Given the description of an element on the screen output the (x, y) to click on. 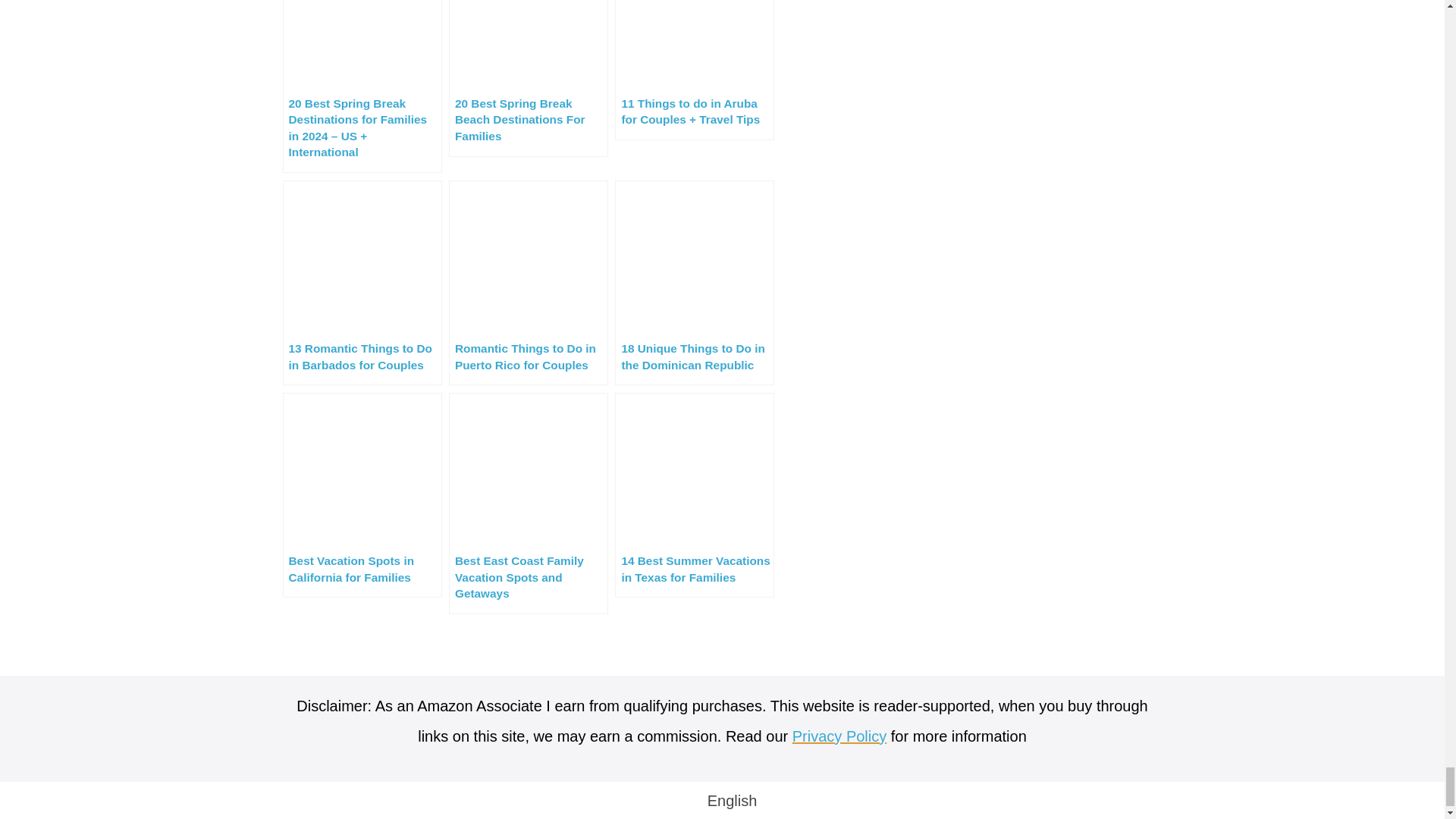
20 Best Spring Break Beach Destinations For Families (528, 78)
